Given the description of an element on the screen output the (x, y) to click on. 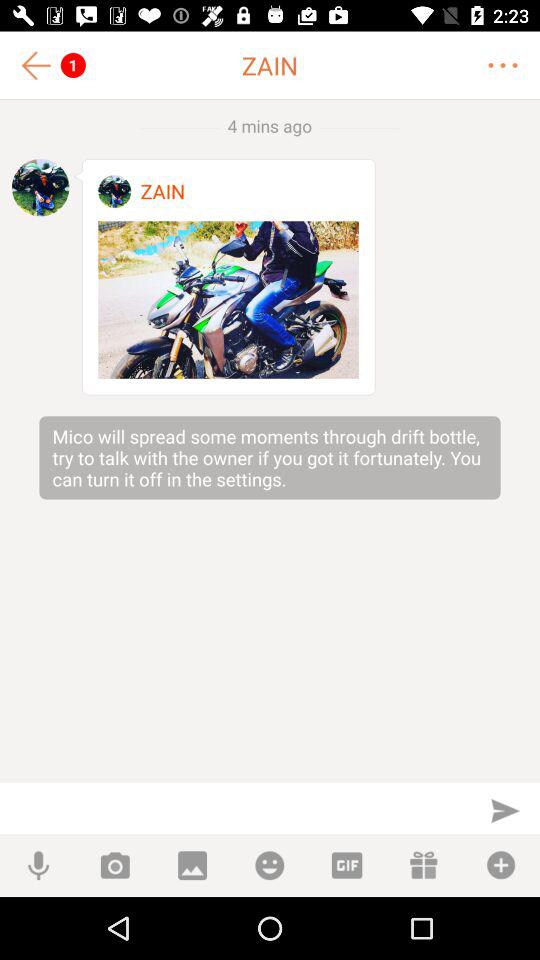
send (505, 810)
